Given the description of an element on the screen output the (x, y) to click on. 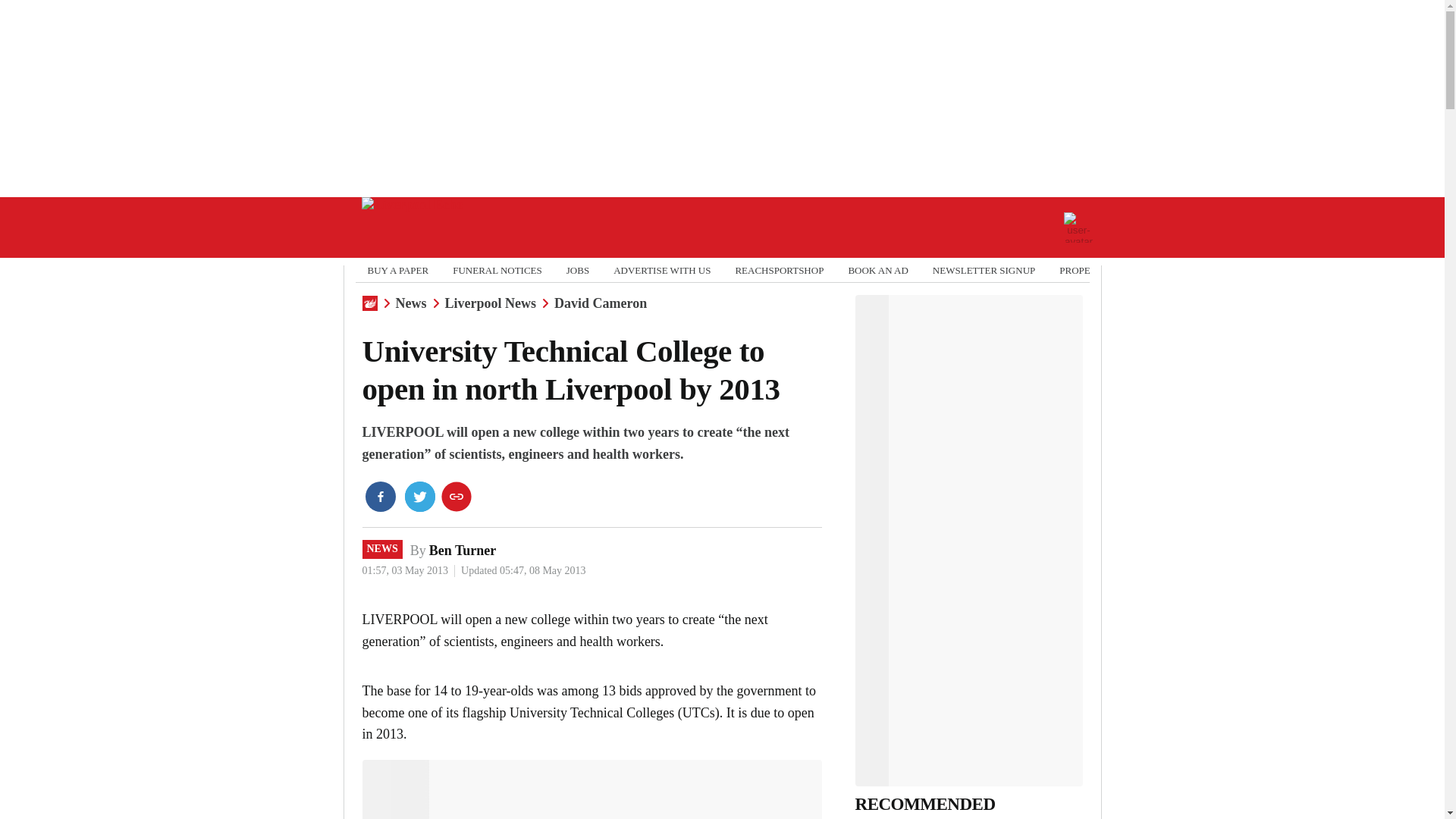
BUY A PAPER (397, 270)
PROPERTY (1084, 270)
avatar (1077, 227)
NEWS (382, 548)
Liverpool News (489, 303)
Go to the Liverpool Echo homepage (411, 227)
REACHSPORTSHOP (779, 270)
BOOK AN AD (877, 270)
NEWSLETTER SIGNUP (984, 270)
JOBS (577, 270)
